Given the description of an element on the screen output the (x, y) to click on. 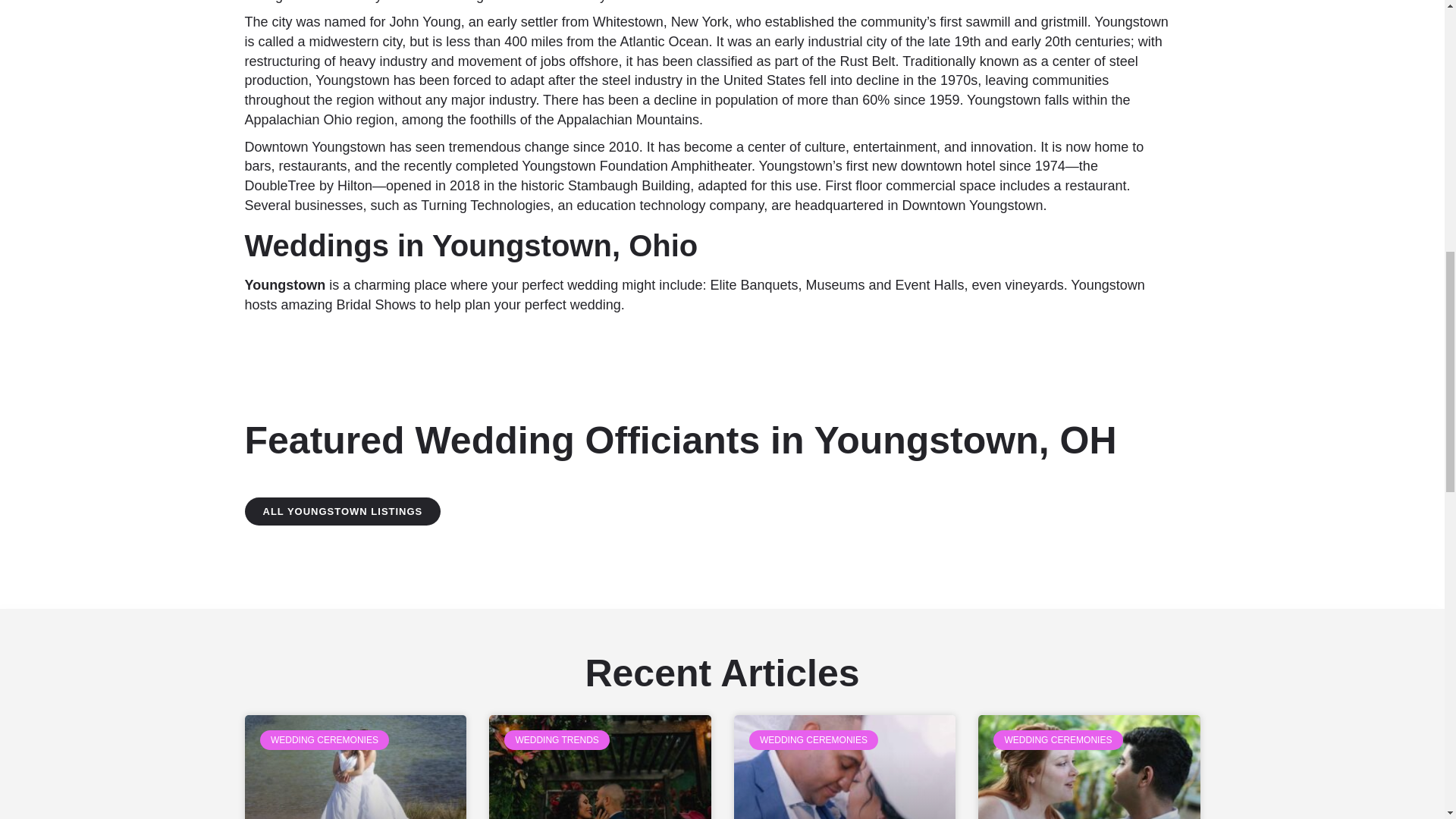
ALL YOUNGSTOWN LISTINGS (342, 511)
